Given the description of an element on the screen output the (x, y) to click on. 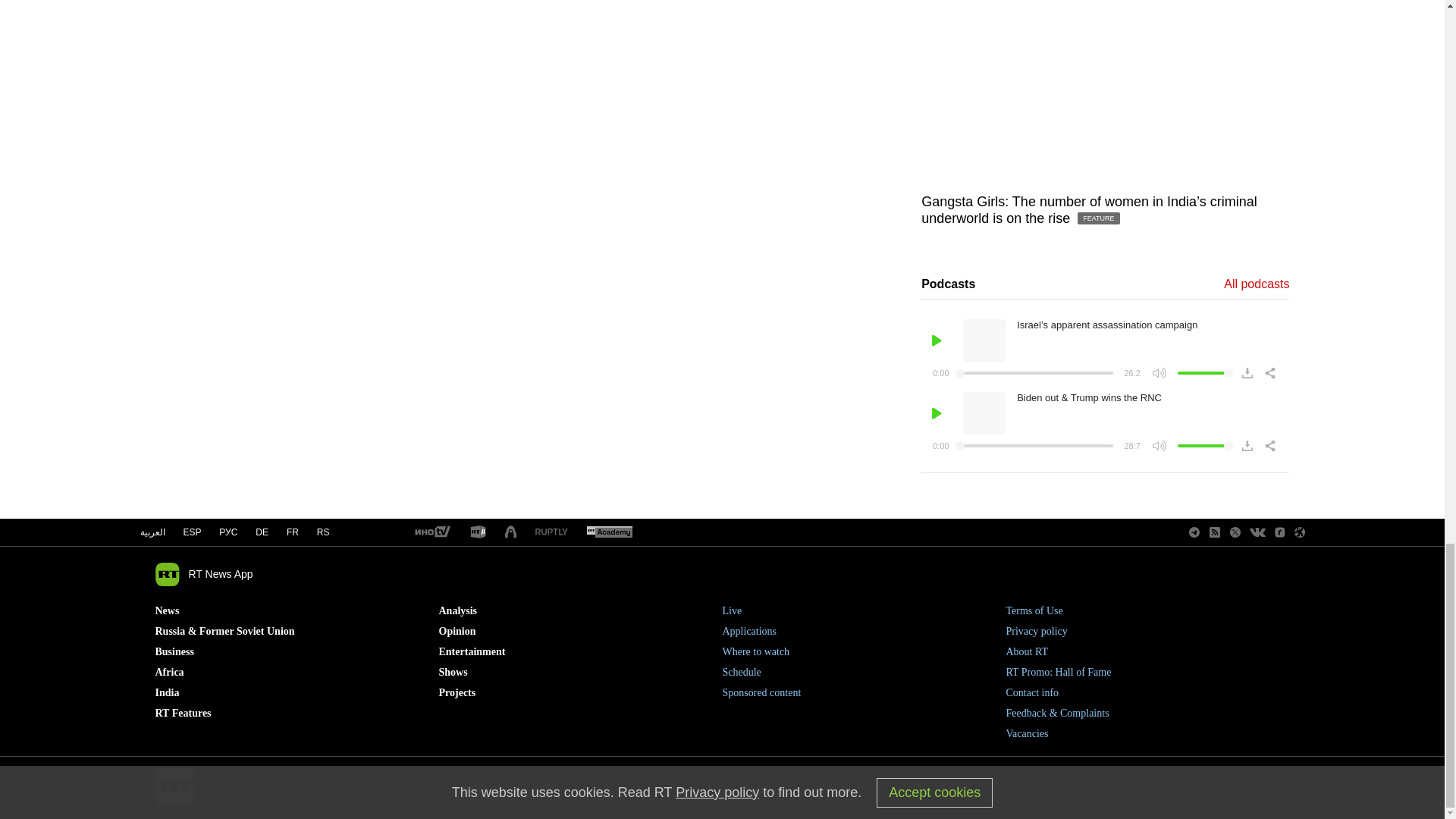
RT  (608, 532)
RT  (431, 532)
RT  (478, 532)
RT  (551, 532)
